Given the description of an element on the screen output the (x, y) to click on. 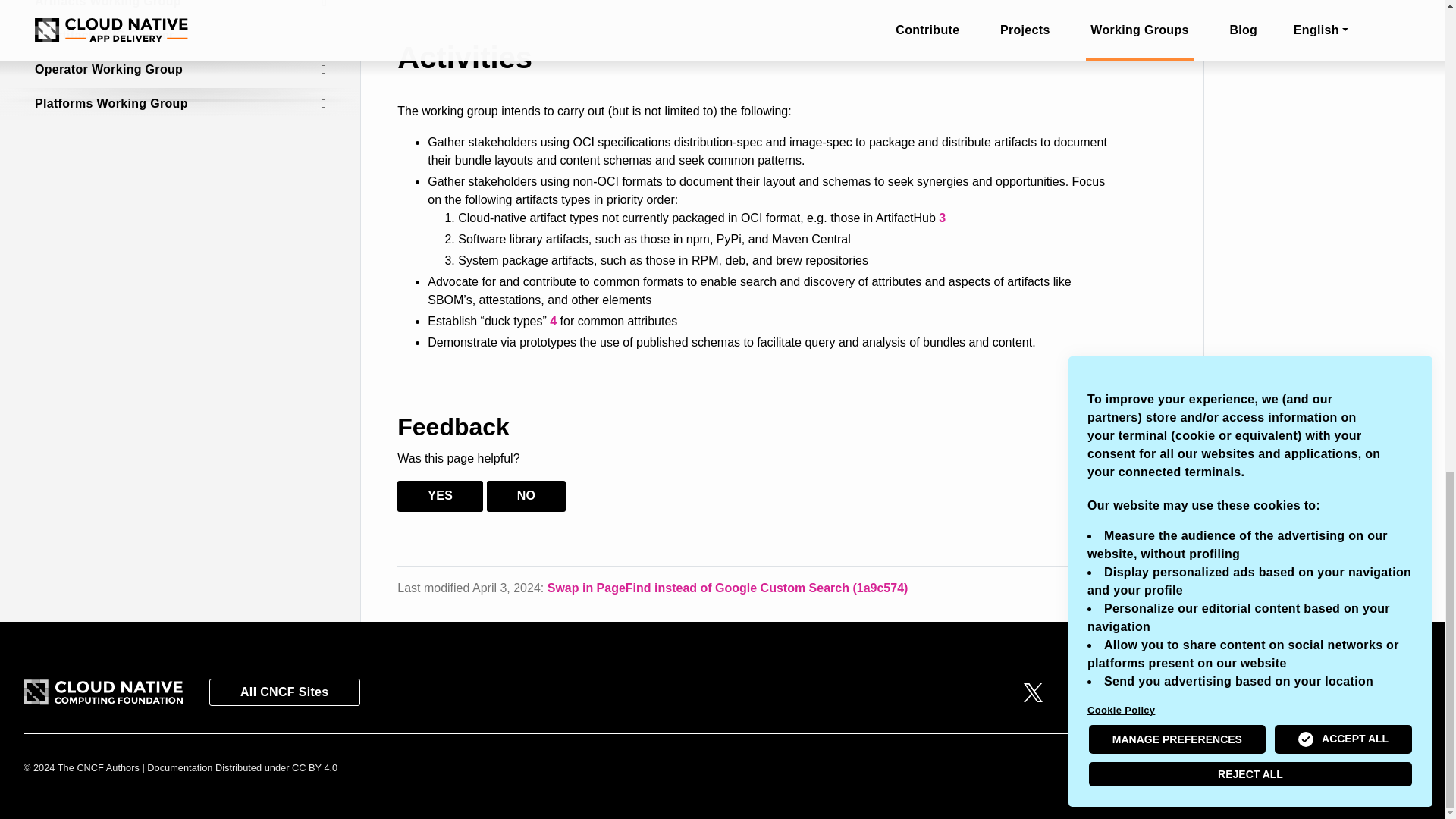
Cloud Native Computing Foundation on Facebook (1309, 692)
Cloud Native Computing Foundation on Flickr (1263, 692)
Cloud Native Computing Foundation on Instagram (1168, 692)
Cloud Native Computing Foundation on LinkedIn (1122, 692)
Cloud Native Computing Foundation Slack (1398, 692)
Cloud Native Computing Foundation on X (1032, 692)
Cloud Native Computing Foundation on Twitch (1353, 692)
Cloud Native Computing Foundation on Github (1077, 692)
Cloud Native Computing Foundation on YouTube (1215, 692)
